Given the description of an element on the screen output the (x, y) to click on. 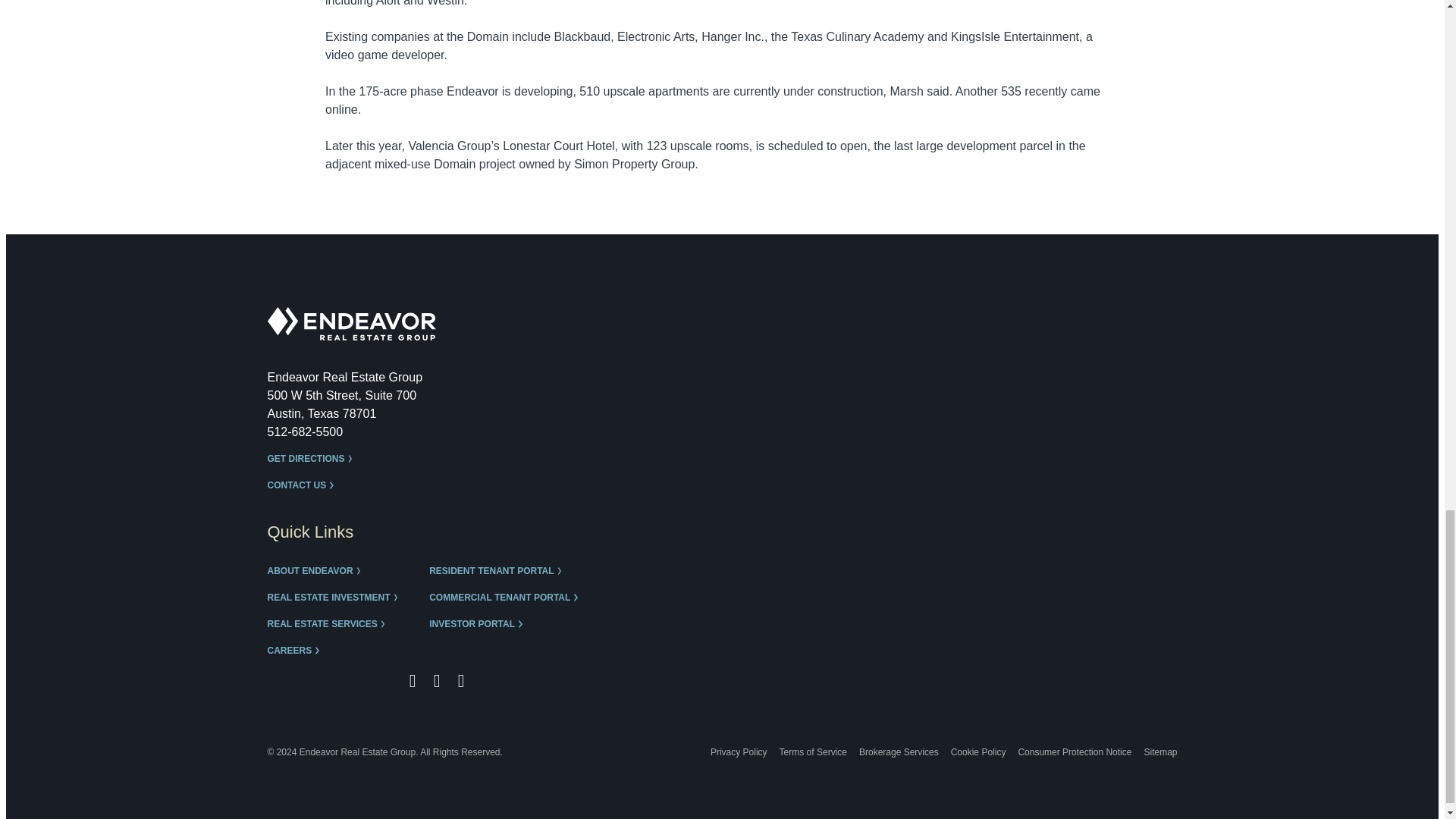
ABOUT ENDEAVOR (317, 571)
GET DIRECTIONS (312, 459)
Linked In (460, 680)
CAREERS (296, 651)
Consumer Protection Notice (1074, 752)
RESIDENT TENANT PORTAL (499, 571)
Endeavor Real Estate Group (350, 323)
Brokerage Services (899, 752)
512-682-5500 (304, 431)
Privacy Policy (738, 752)
INVESTOR PORTAL (479, 624)
REAL ESTATE SERVICES (328, 624)
Instagram (436, 680)
Cookie Policy (978, 752)
COMMERCIAL TENANT PORTAL (507, 597)
